Given the description of an element on the screen output the (x, y) to click on. 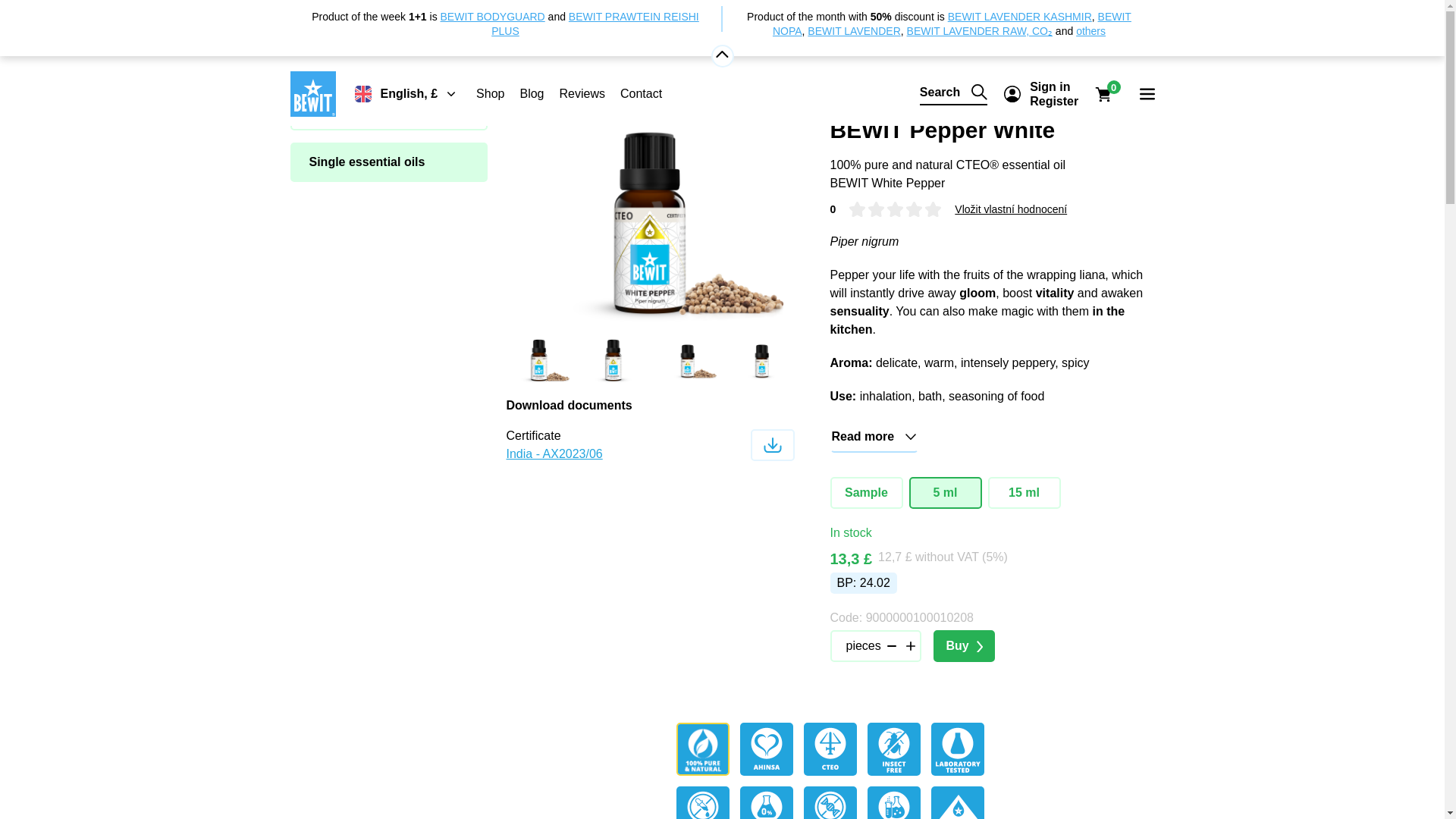
Shop (489, 92)
Reviews (581, 92)
Register (1053, 101)
Sign in (1053, 86)
Search (953, 94)
Blog (531, 92)
others (1090, 30)
BEWIT NOPA (952, 23)
BEWIT LAVENDER (853, 30)
BEWIT PRAWTEIN REISHI PLUS (595, 23)
BEWIT BODYGUARD (492, 16)
BEWIT LAVENDER KASHMIR (1019, 16)
Contact (641, 92)
